Given the description of an element on the screen output the (x, y) to click on. 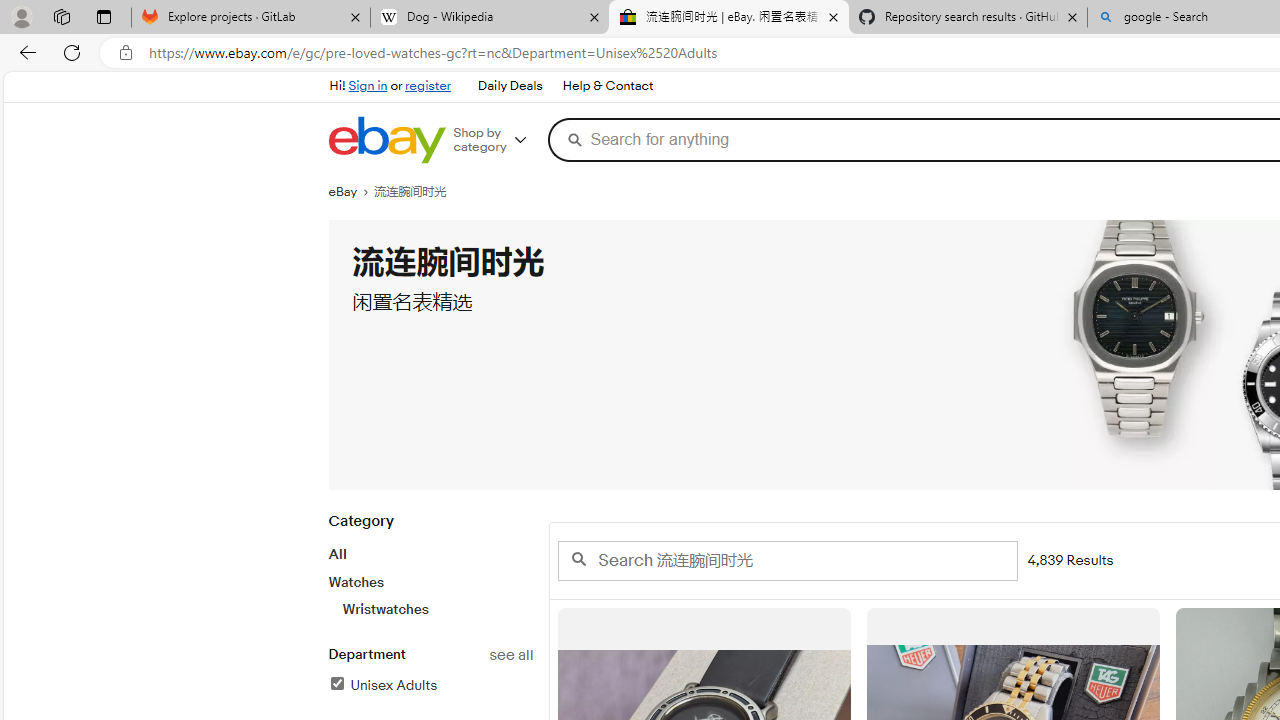
Unisex Adults Filter Applied (381, 685)
Daily Deals (509, 86)
Departmentsee allUnisex AdultsFilter Applied (430, 681)
eBay Home (386, 139)
CategoryAllWatchesWristwatches (430, 576)
eBay (351, 192)
AllWatchesWristwatches (430, 581)
Help & Contact (606, 85)
eBay (351, 191)
